Given the description of an element on the screen output the (x, y) to click on. 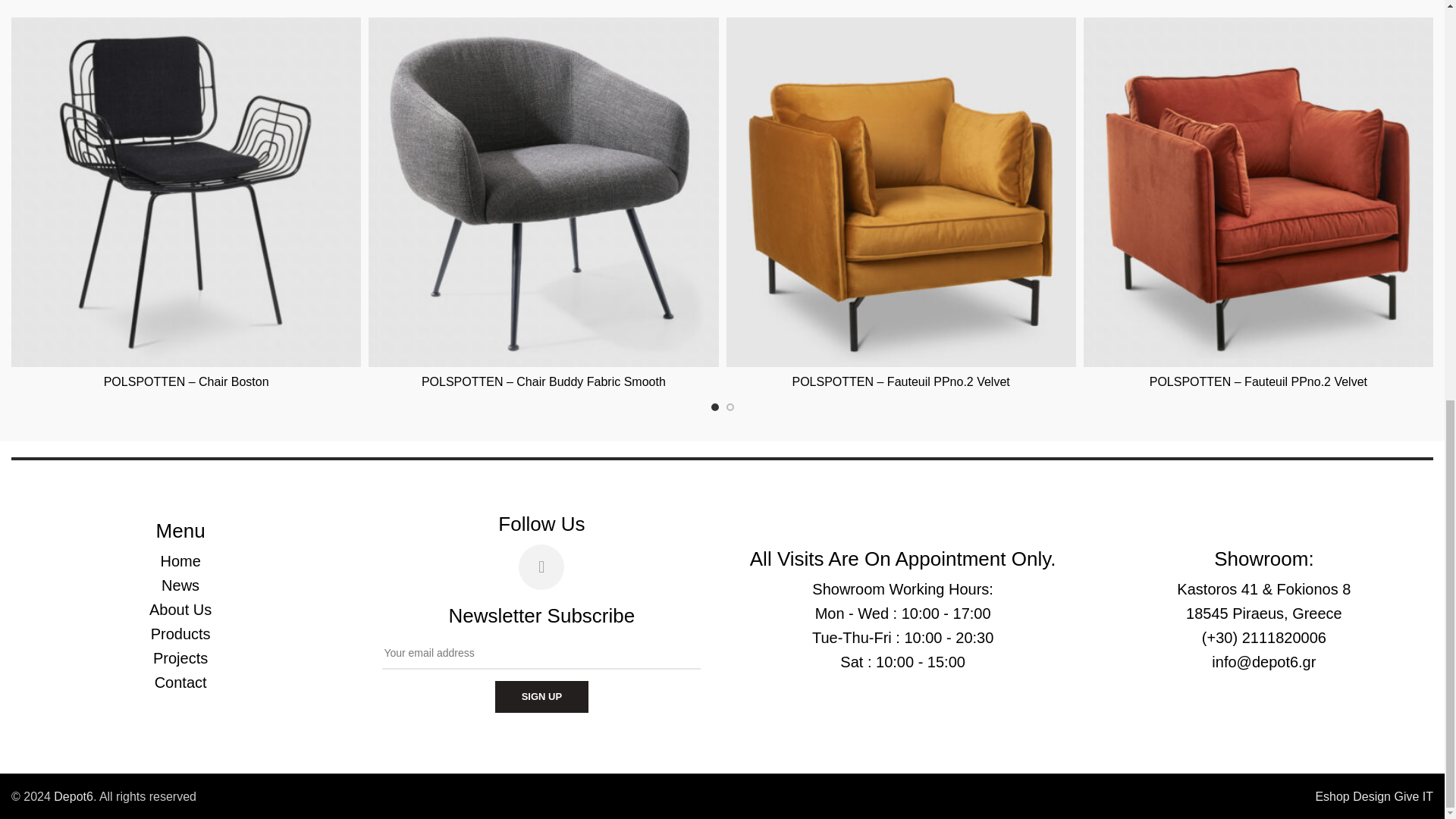
Sign up (541, 696)
